Given the description of an element on the screen output the (x, y) to click on. 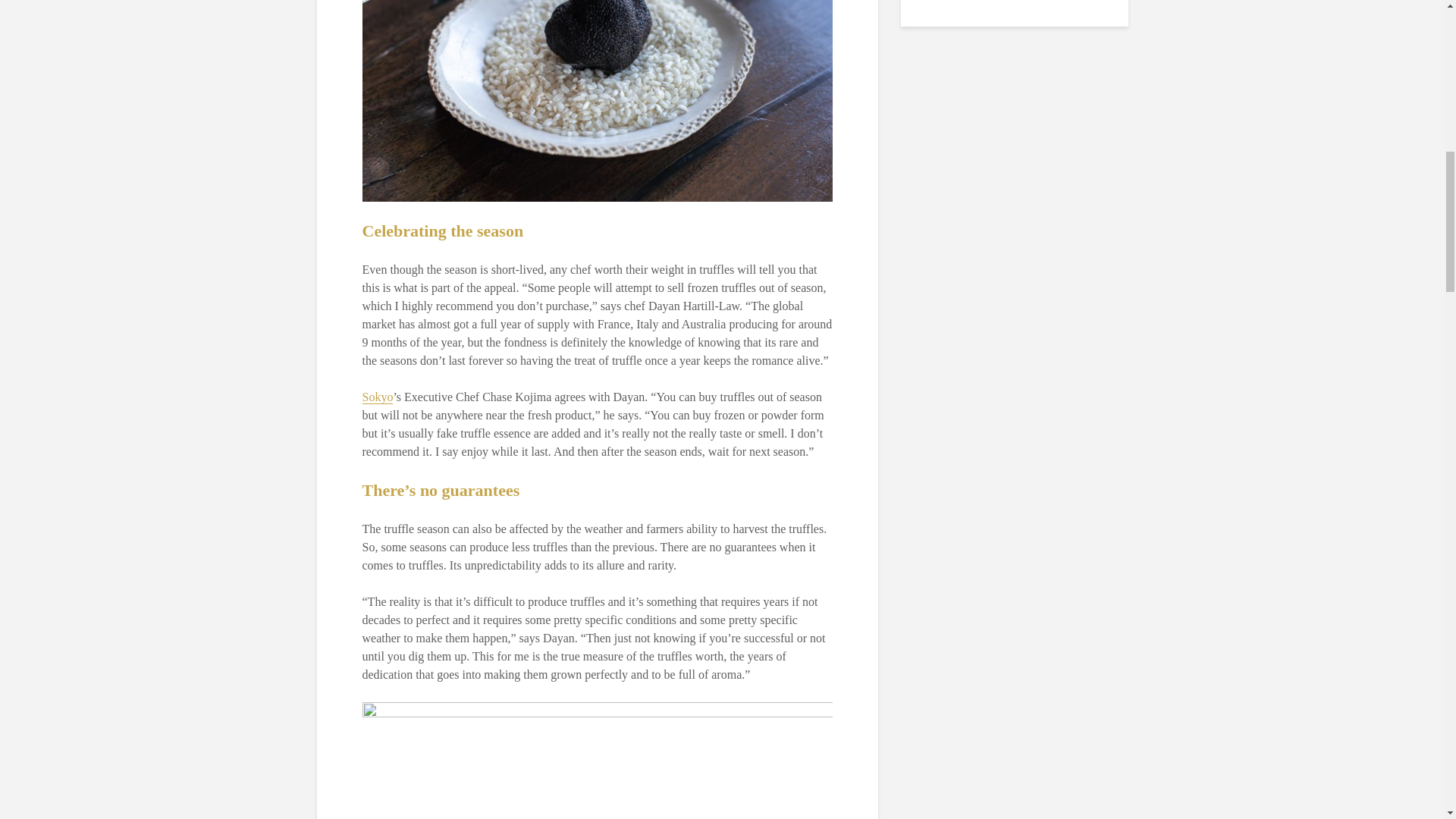
Sokyo (377, 397)
